Given the description of an element on the screen output the (x, y) to click on. 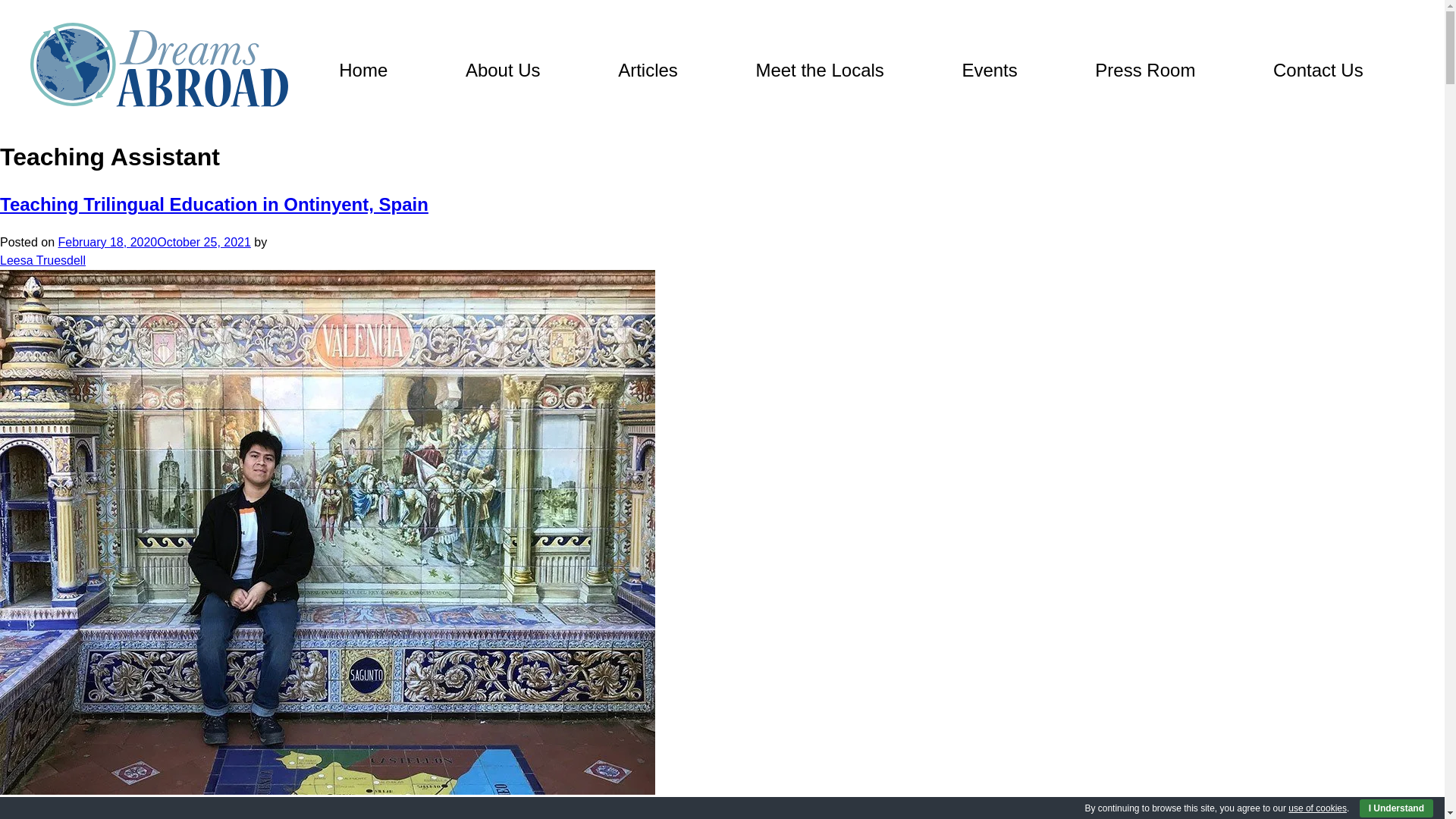
Teaching Trilingual Education in Ontinyent, Spain (214, 204)
Events (988, 69)
Leesa Truesdell (42, 260)
About Us (502, 69)
Dreams Abroad logo (159, 64)
Meet the Locals (819, 69)
Home (363, 69)
Press Room (1144, 69)
Articles (647, 69)
February 18, 2020October 25, 2021 (154, 241)
Contact Us (1317, 69)
